Given the description of an element on the screen output the (x, y) to click on. 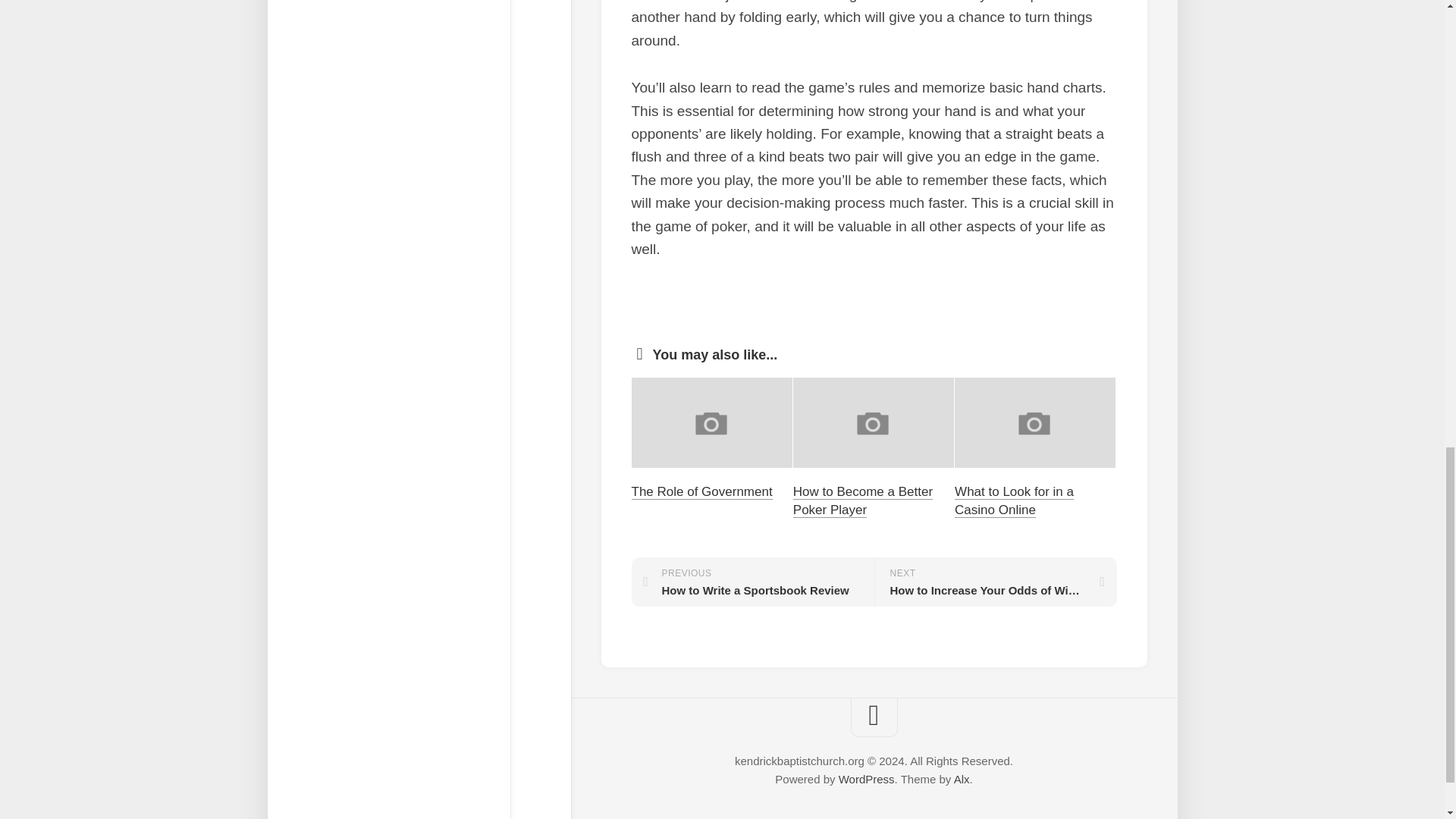
How to Become a Better Poker Player (863, 500)
What to Look for in a Casino Online (1014, 500)
Alx (961, 779)
The Role of Government (994, 581)
WordPress (700, 491)
